Given the description of an element on the screen output the (x, y) to click on. 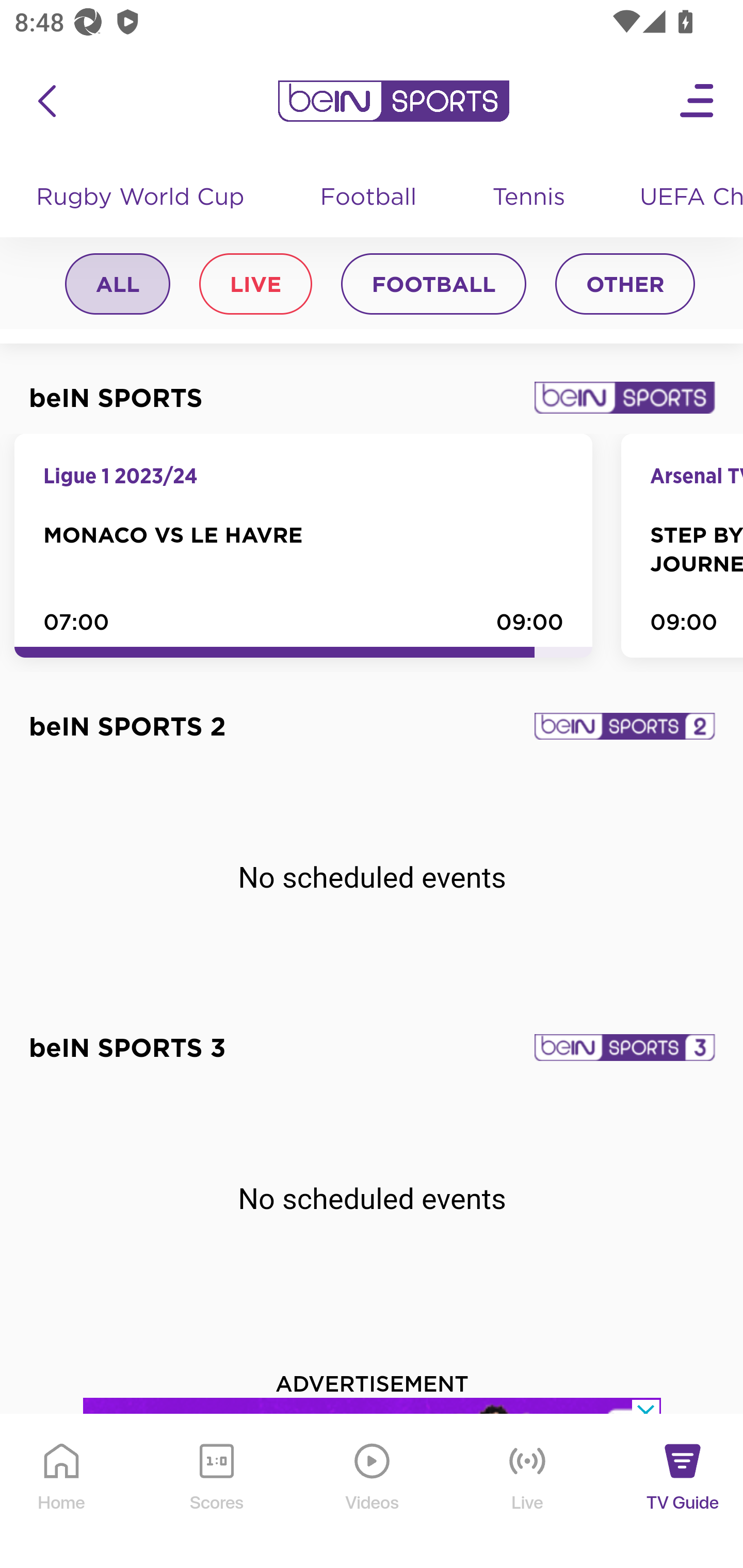
en-my?platform=mobile_android bein logo (392, 101)
icon back (46, 101)
Open Menu Icon (697, 101)
Rugby World Cup (142, 198)
Football (369, 198)
Tennis (530, 198)
UEFA Champions League (683, 198)
ALL (118, 286)
LIVE (255, 286)
FOOTBALL (433, 286)
OTHER (625, 286)
Home Home Icon Home (61, 1491)
Scores Scores Icon Scores (216, 1491)
Videos Videos Icon Videos (372, 1491)
TV Guide TV Guide Icon TV Guide (682, 1491)
